Given the description of an element on the screen output the (x, y) to click on. 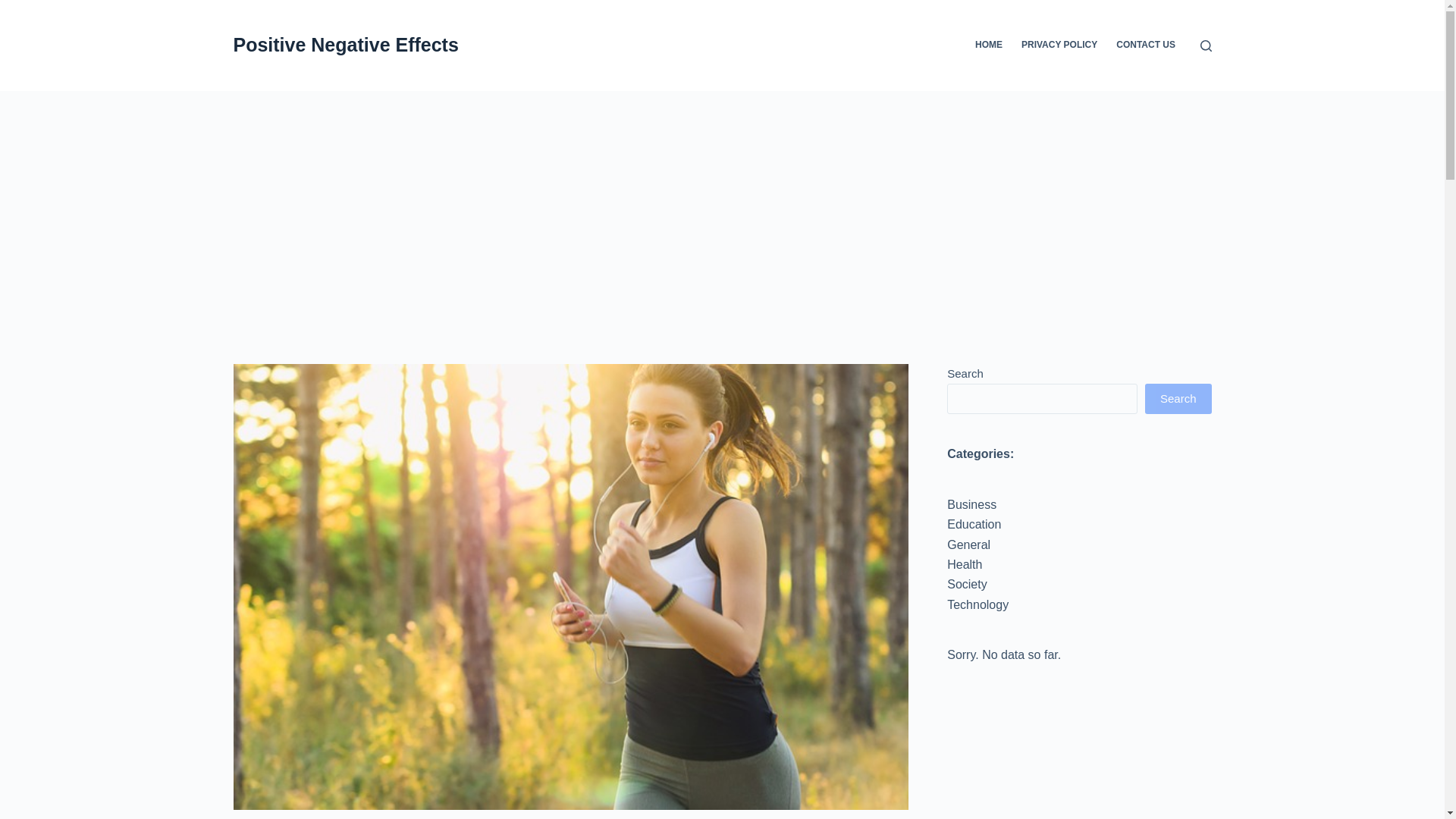
Health (964, 563)
Search (1177, 399)
Business (971, 504)
Skip to content (15, 7)
PRIVACY POLICY (1058, 45)
Technology (978, 604)
Education (974, 523)
Society (967, 584)
General (968, 544)
